Given the description of an element on the screen output the (x, y) to click on. 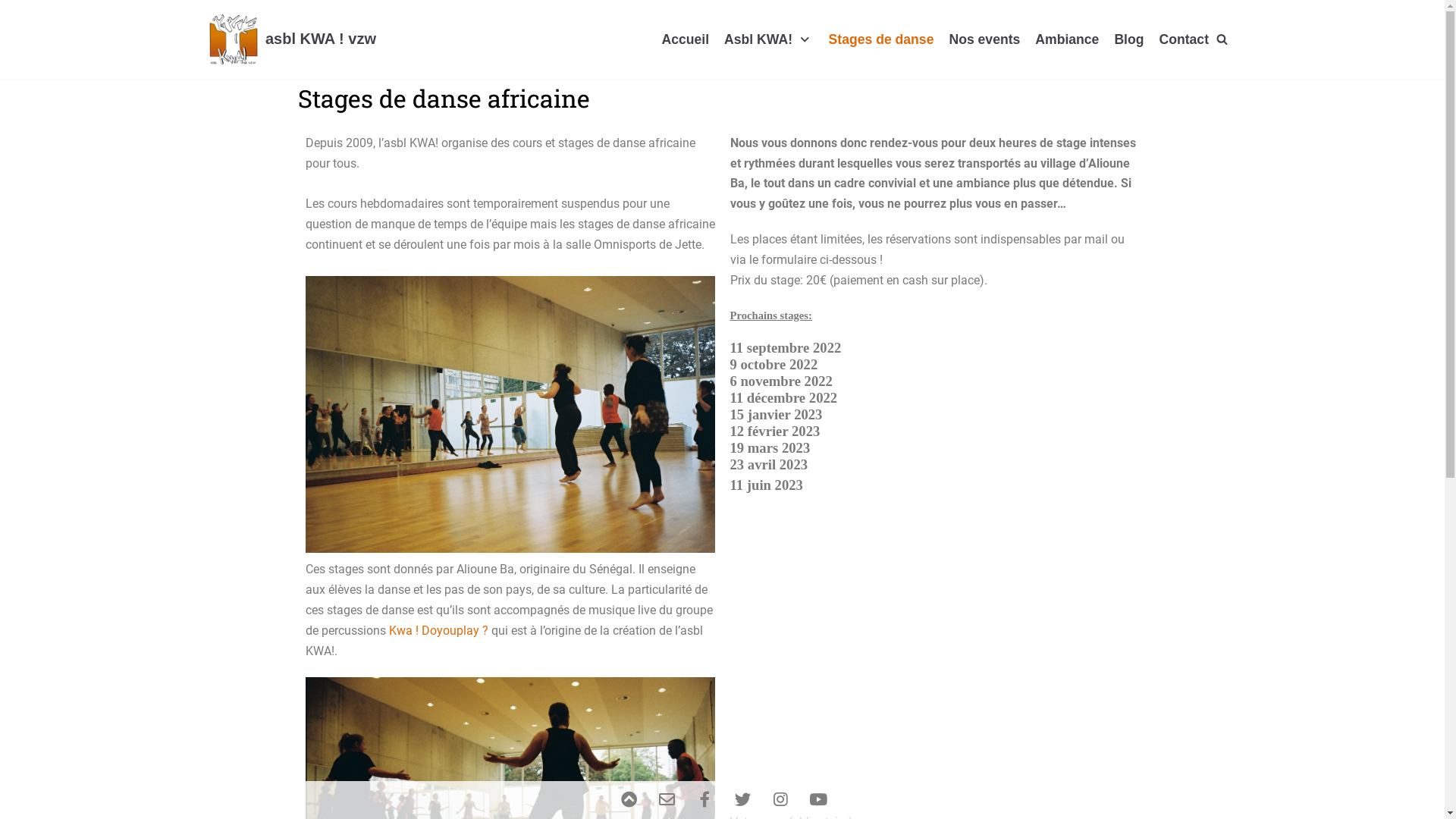
Accueil Element type: text (685, 39)
Asbl KWA! Element type: text (768, 39)
Kwa ! Doyouplay ? Element type: text (437, 630)
Search Element type: text (1218, 409)
Nos events Element type: text (983, 39)
Contact Element type: text (1183, 39)
asbl KWA ! vzw Element type: text (292, 39)
Stages de danse Element type: text (881, 39)
Blog Element type: text (1128, 39)
Aller au contenu Element type: text (15, 31)
Ambiance Element type: text (1066, 39)
